Given the description of an element on the screen output the (x, y) to click on. 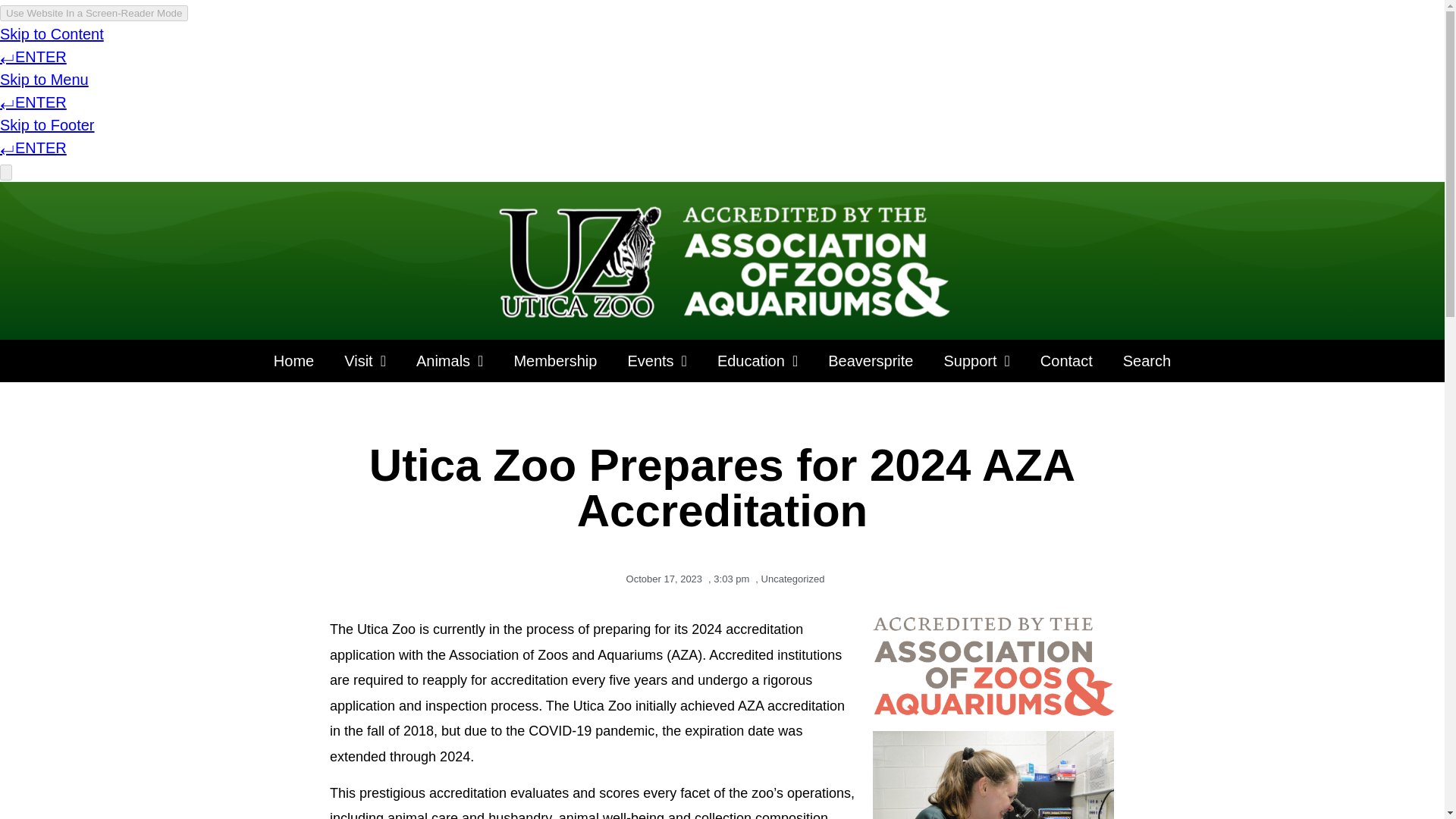
Education (756, 360)
Visit (365, 360)
Animals (449, 360)
Home (294, 360)
Events (656, 360)
Membership (554, 360)
